Given the description of an element on the screen output the (x, y) to click on. 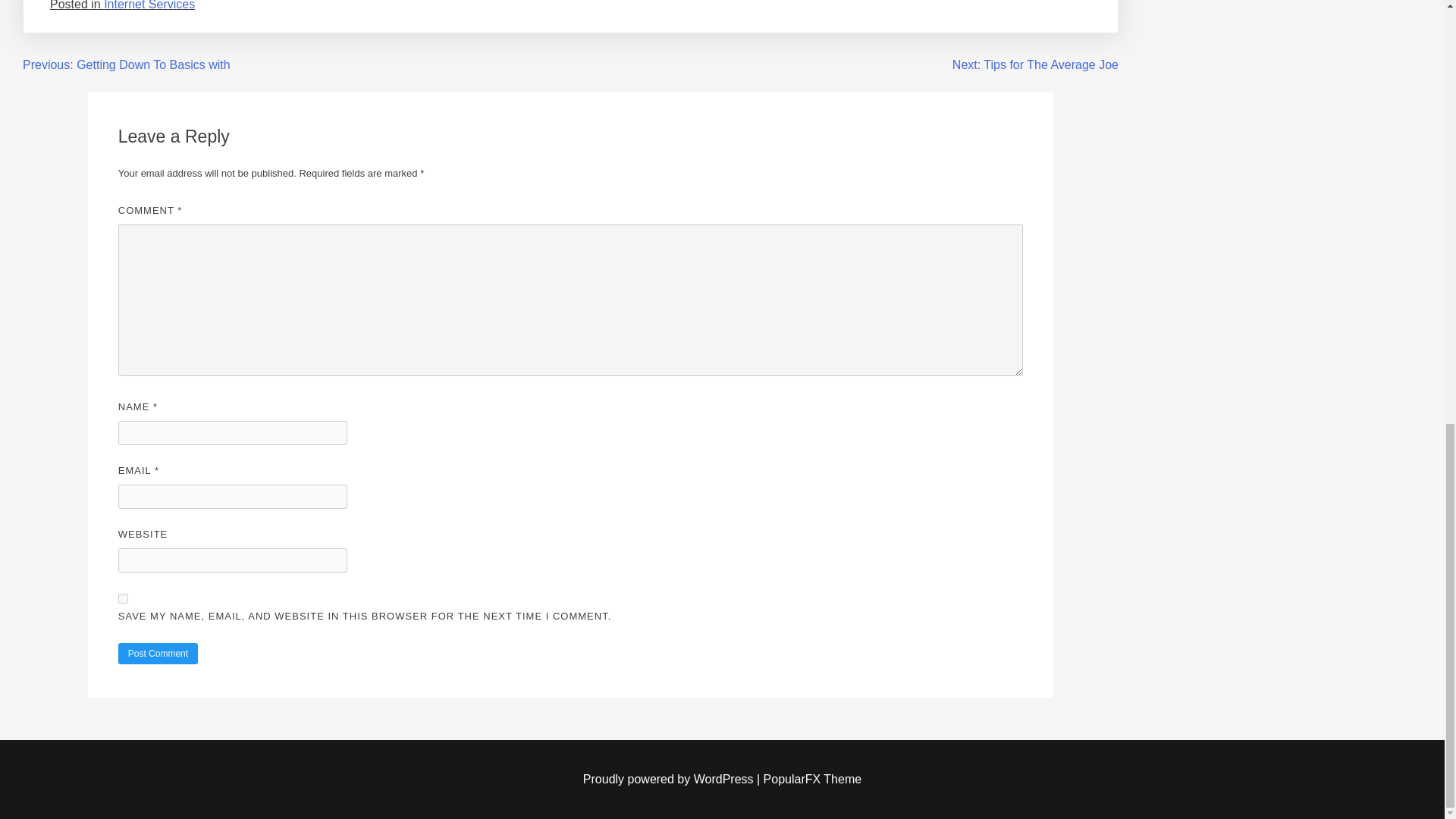
Next: Tips for The Average Joe (1035, 64)
PopularFX Theme (811, 779)
Previous: Getting Down To Basics with (126, 64)
Internet Services (149, 5)
Post Comment (157, 653)
yes (122, 598)
Post Comment (157, 653)
Proudly powered by WordPress (670, 779)
